Given the description of an element on the screen output the (x, y) to click on. 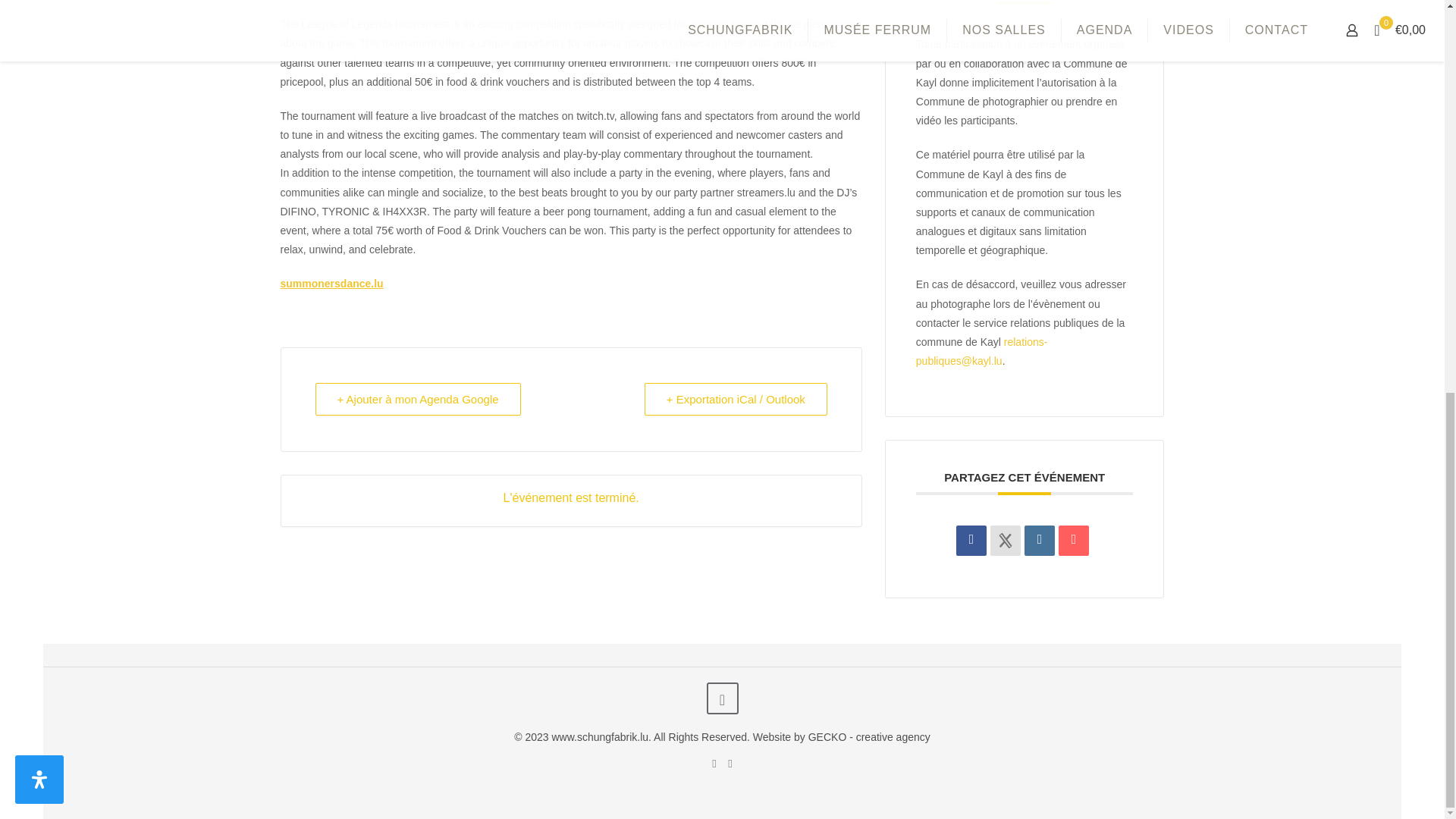
summonersdance.lu (332, 283)
X Social Network (1005, 540)
LinkedIn (1039, 540)
Email (1073, 540)
GECKO - creative agency (869, 736)
Partager sur Facebook (971, 540)
